Given the description of an element on the screen output the (x, y) to click on. 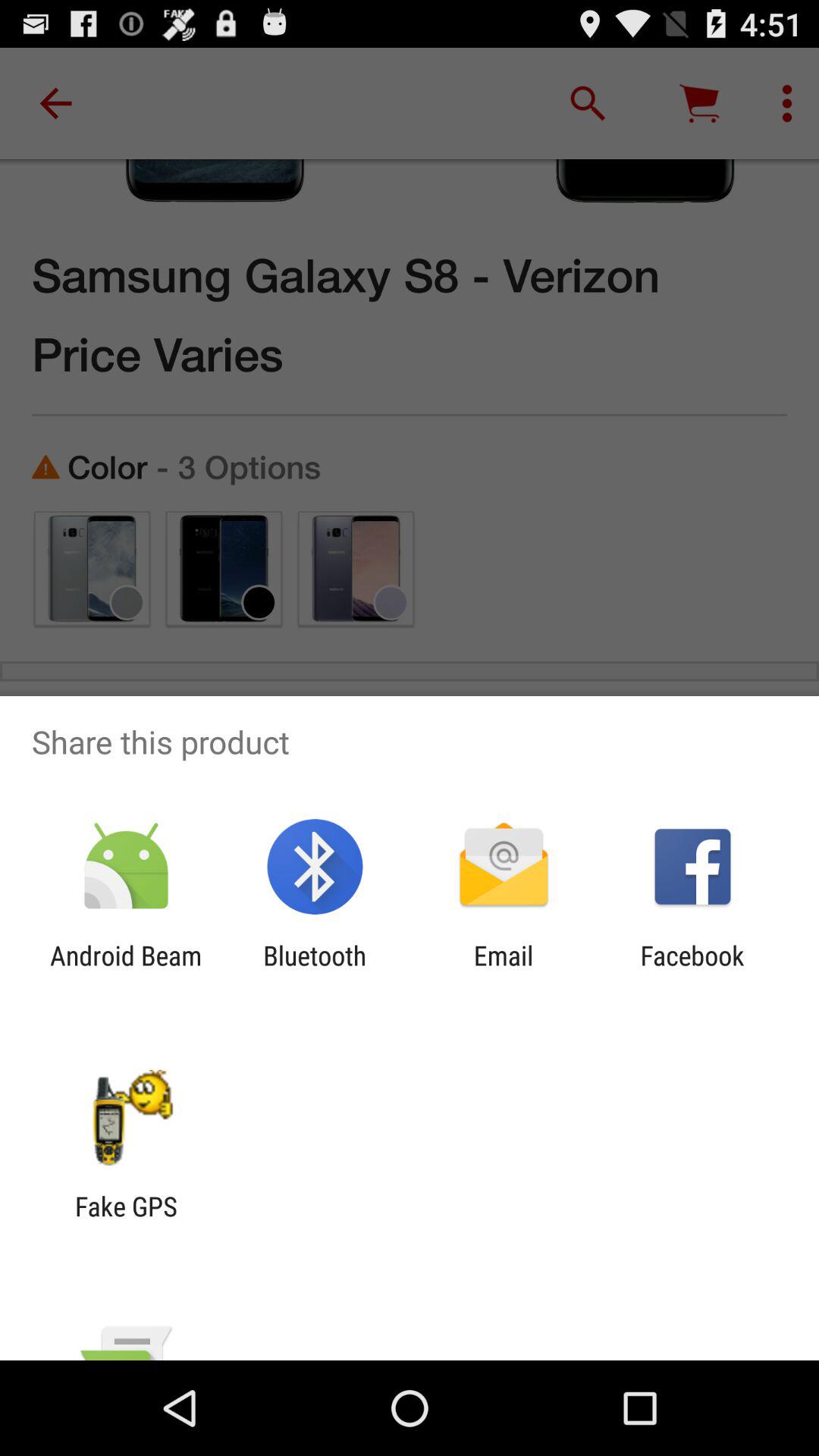
choose email item (503, 971)
